Given the description of an element on the screen output the (x, y) to click on. 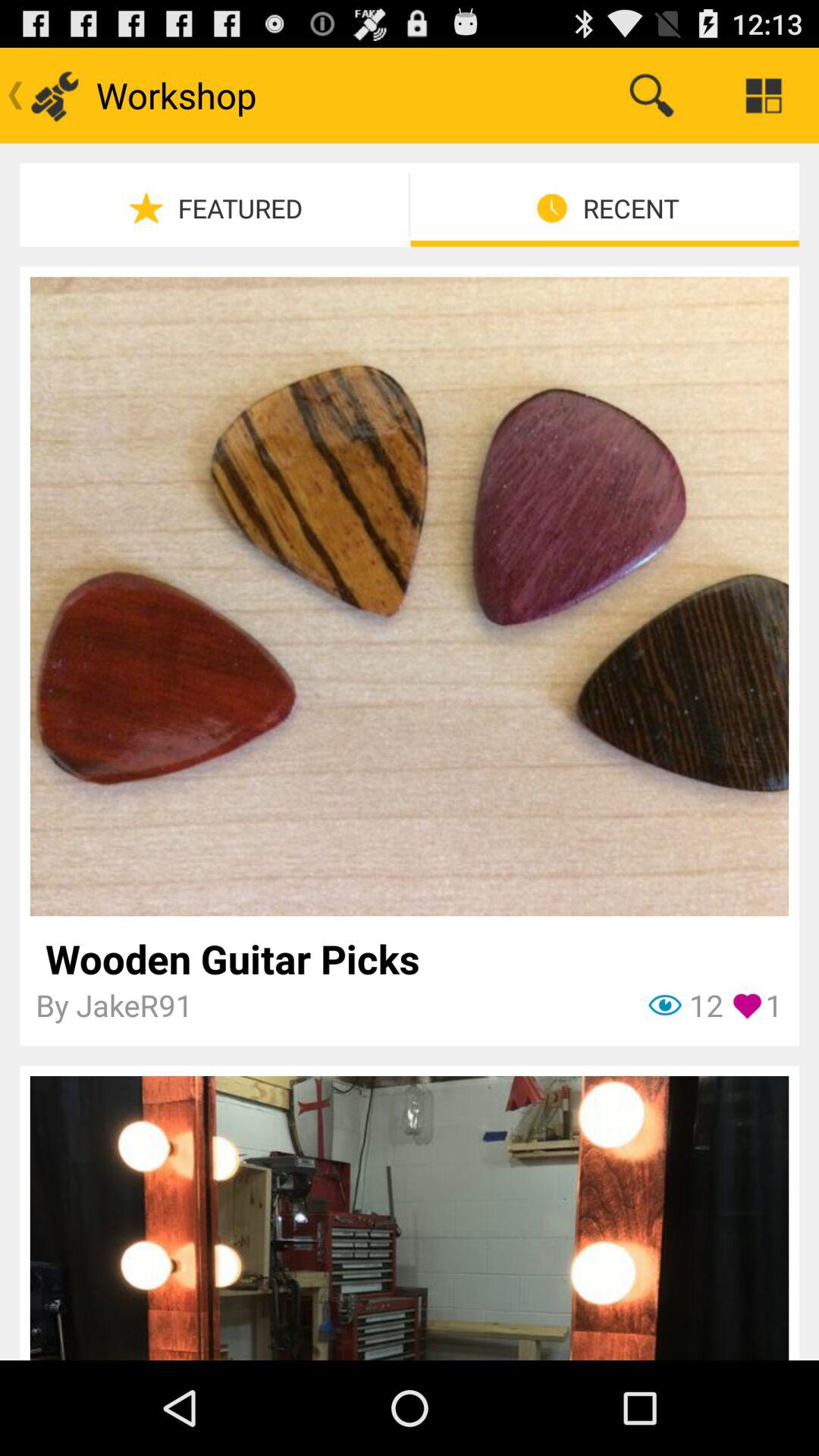
launch the item next to workshop item (651, 95)
